Given the description of an element on the screen output the (x, y) to click on. 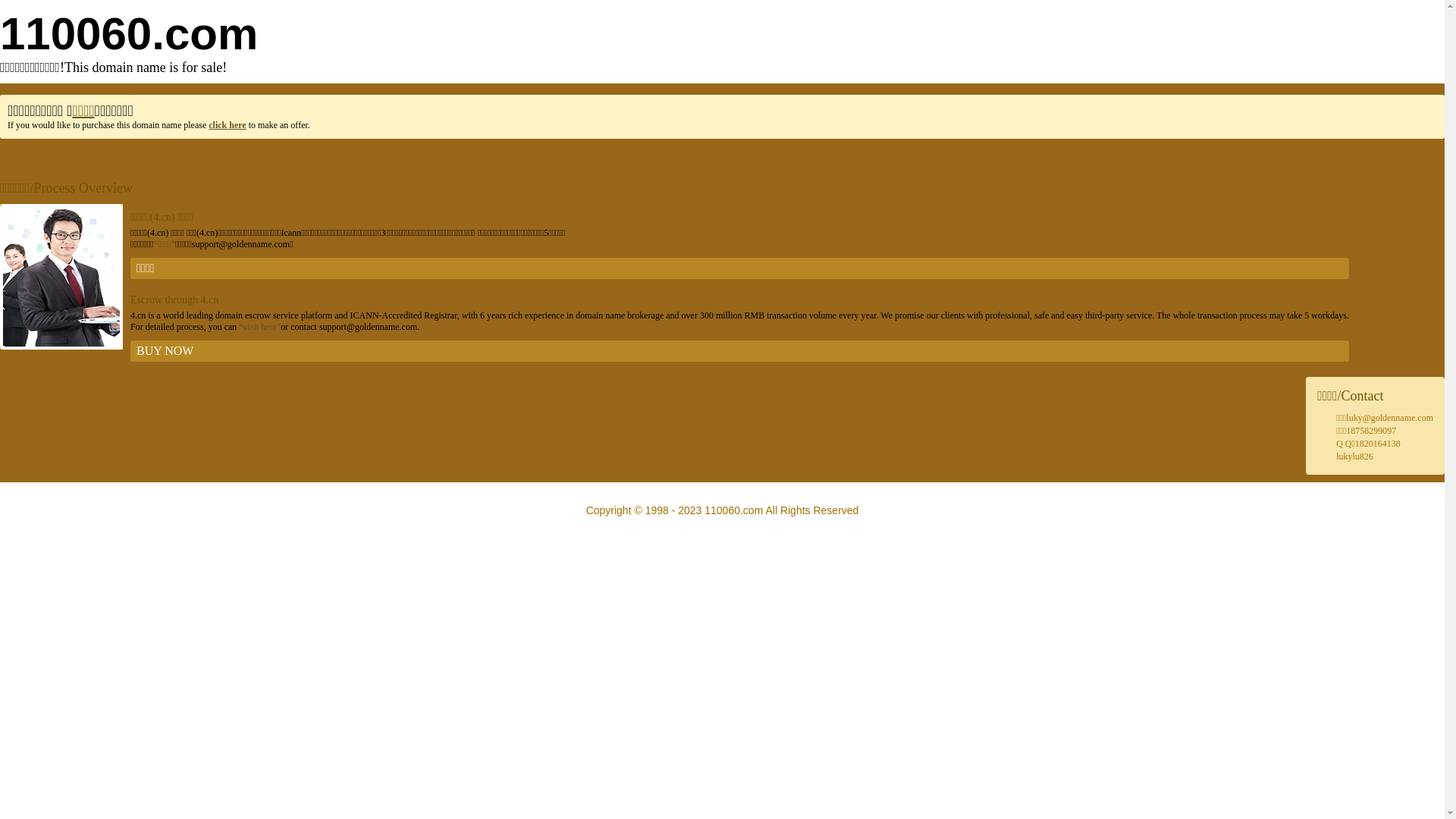
BUY NOW Element type: text (739, 350)
click here Element type: text (226, 124)
